Given the description of an element on the screen output the (x, y) to click on. 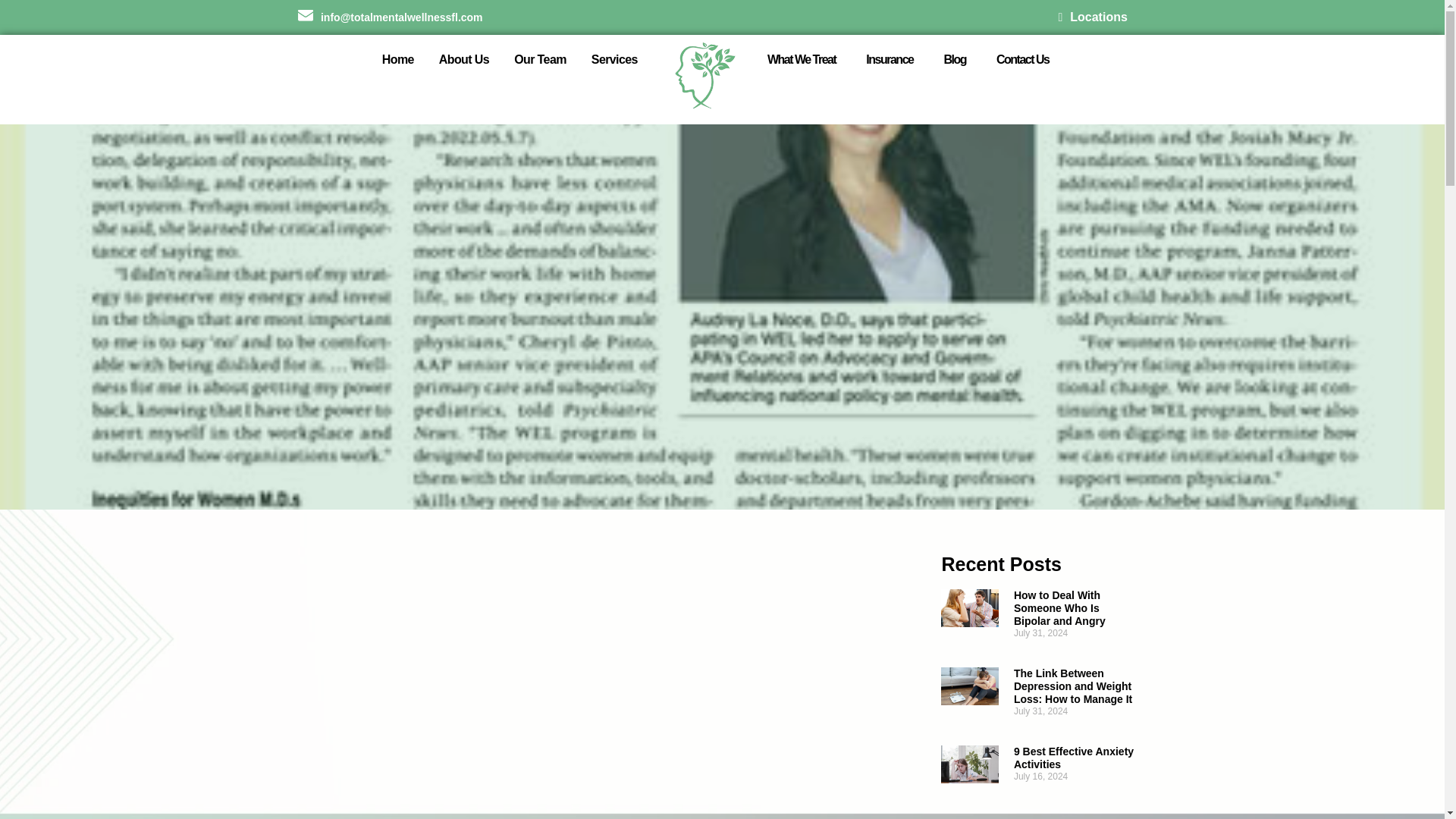
Our Team (540, 59)
Services (614, 59)
About Us (464, 59)
Home (398, 59)
Locations (1092, 17)
